Given the description of an element on the screen output the (x, y) to click on. 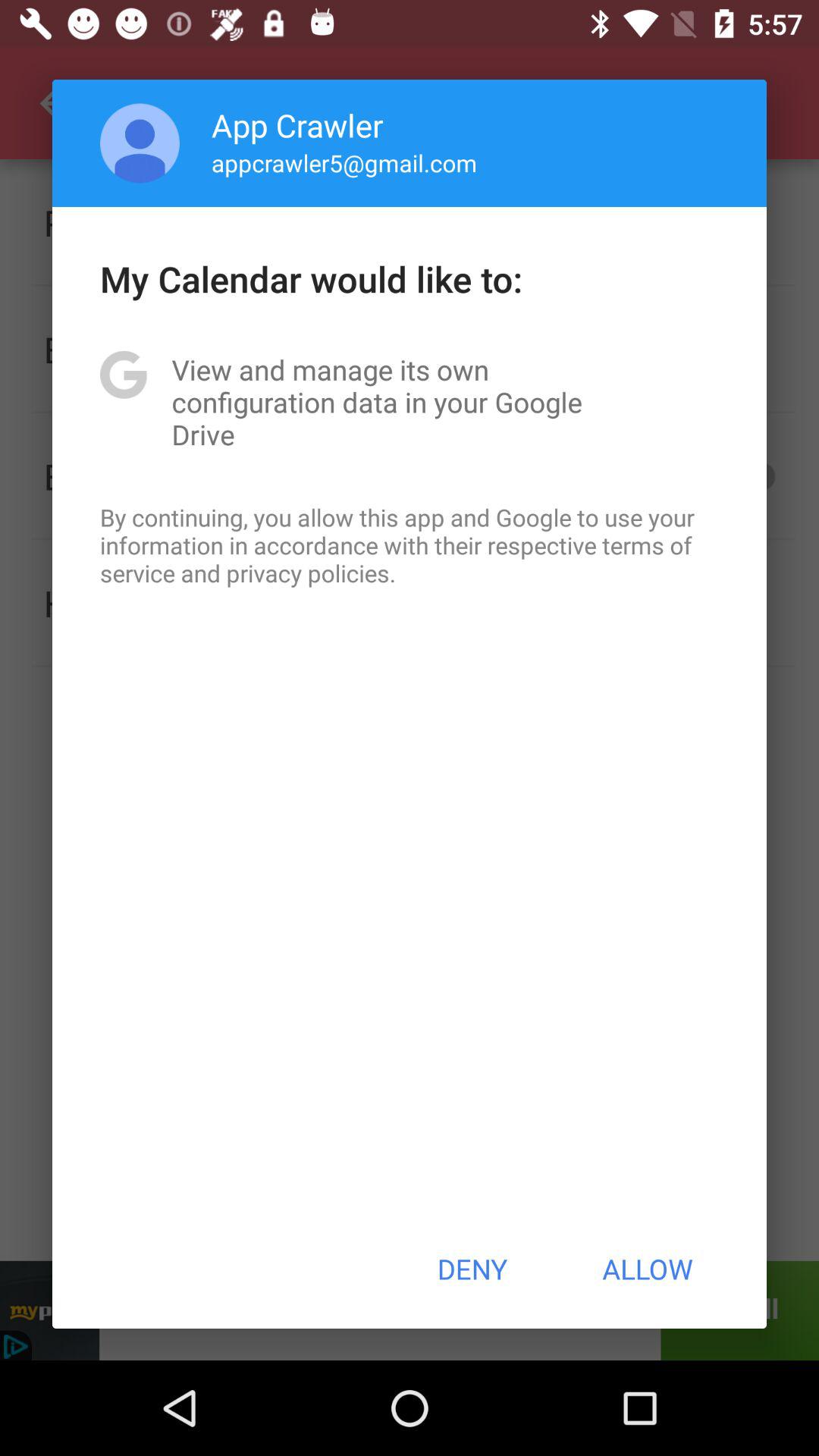
swipe until the app crawler app (297, 124)
